Given the description of an element on the screen output the (x, y) to click on. 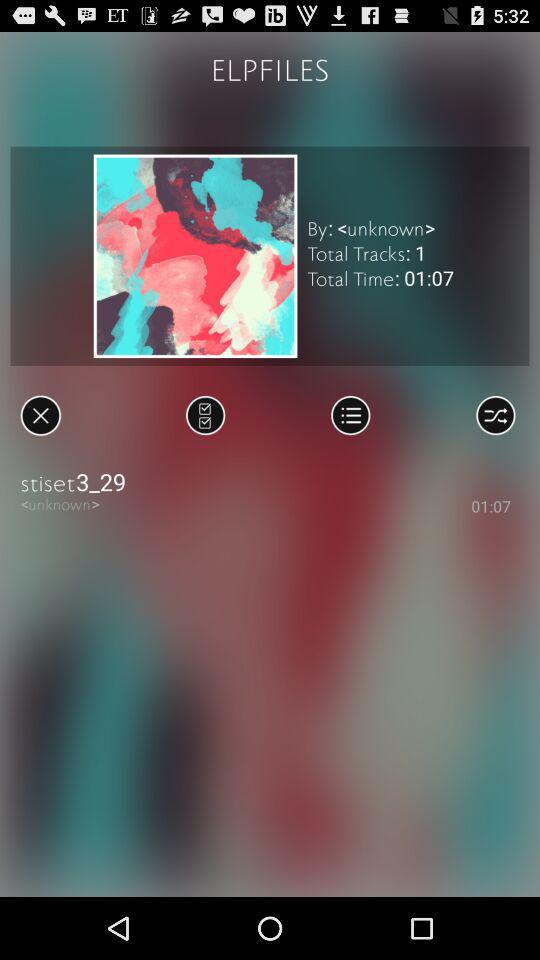
shuffle play (495, 415)
